Given the description of an element on the screen output the (x, y) to click on. 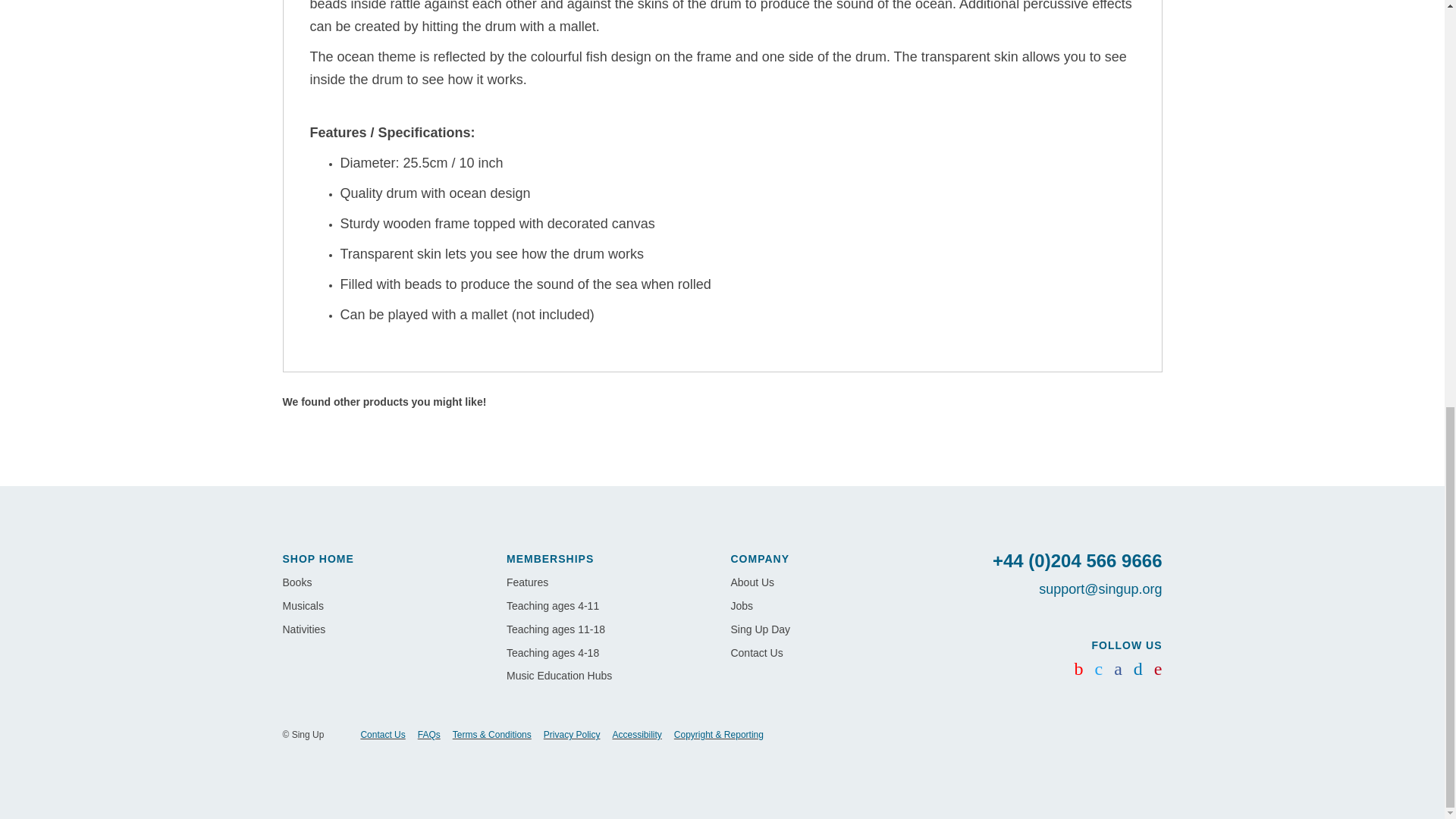
Teaching ages 11-18 (555, 629)
MEMBERSHIPS (550, 558)
Musicals (302, 605)
Musicals (302, 605)
Teaching ages 4-11 (552, 605)
Teaching ages 4-18 (552, 653)
Teaching ages 4-11 (552, 605)
Features (527, 582)
Nativities (303, 629)
SHOP HOME (317, 558)
Nativities (303, 629)
Memberships (550, 558)
Books (296, 582)
Books (296, 582)
Teaching ages 11-18 (555, 629)
